Given the description of an element on the screen output the (x, y) to click on. 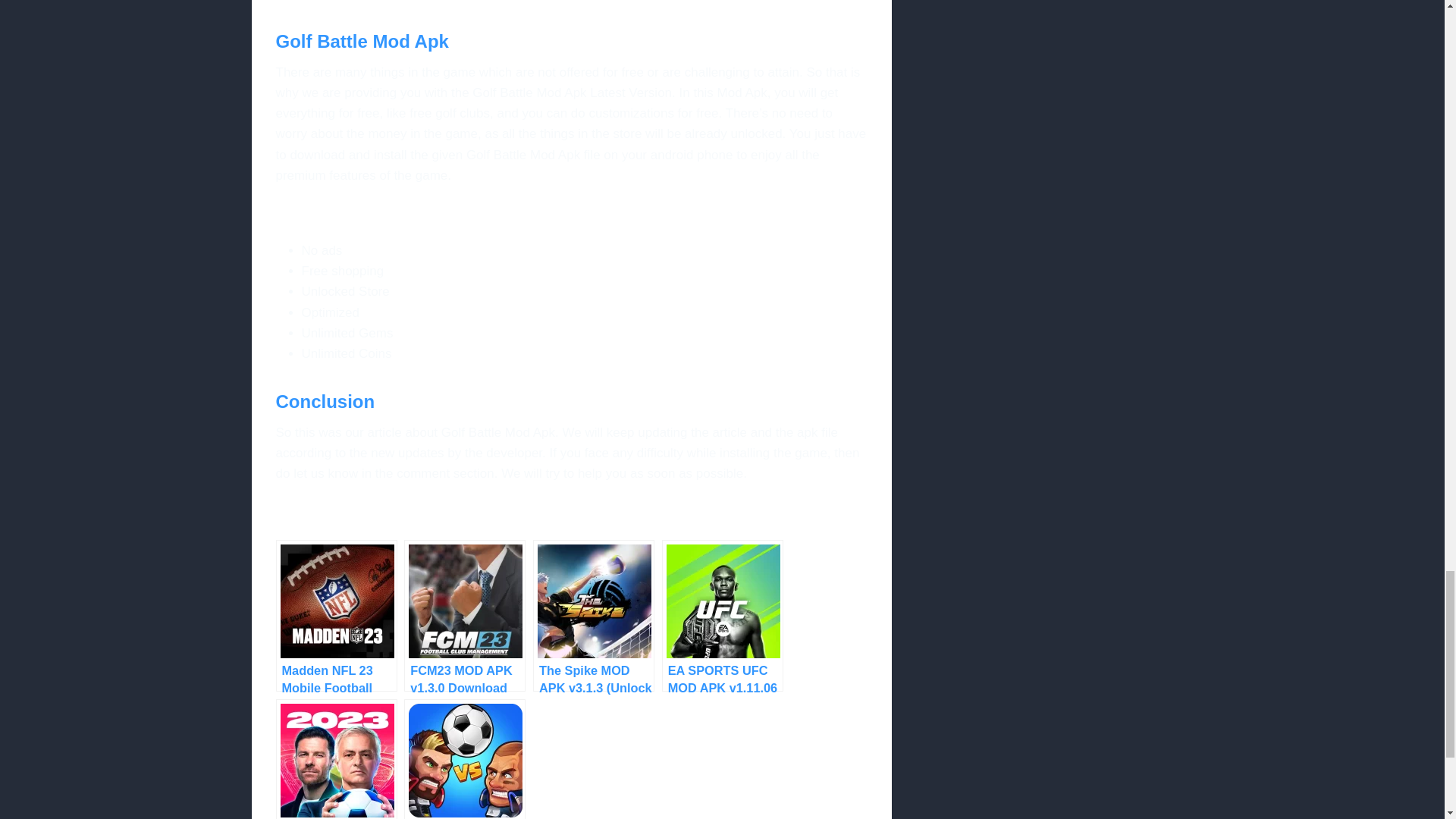
FCM23 MOD APK v1.3.0 Download (464, 615)
